Given the description of an element on the screen output the (x, y) to click on. 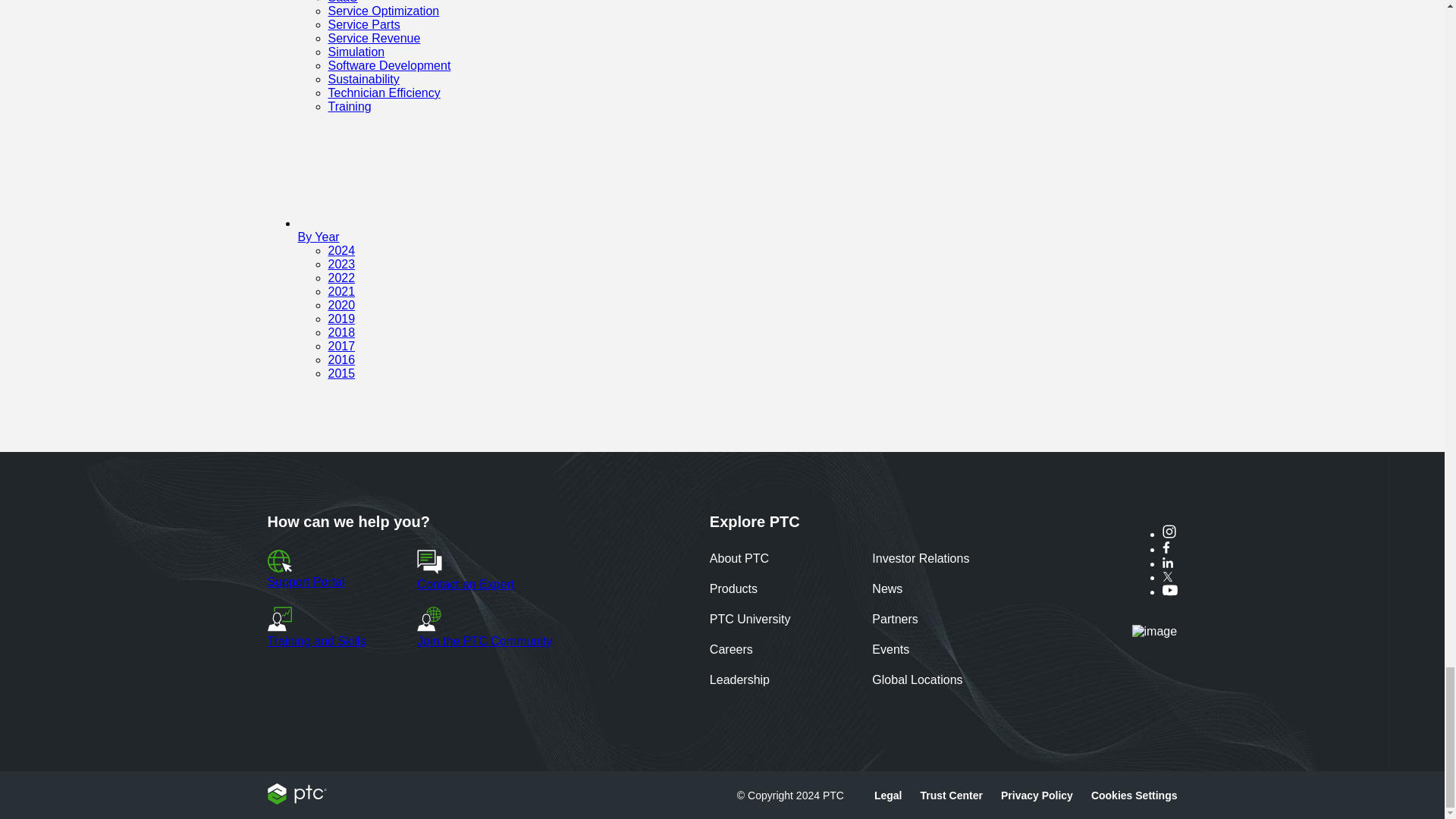
PTC University (750, 620)
Products (733, 590)
Privacy Policy (1037, 794)
PTC University (750, 620)
Global Locations (917, 681)
About PTC (739, 559)
Global Locations (917, 681)
News (887, 590)
Cookies Settings (1133, 794)
Products (733, 590)
